Given the description of an element on the screen output the (x, y) to click on. 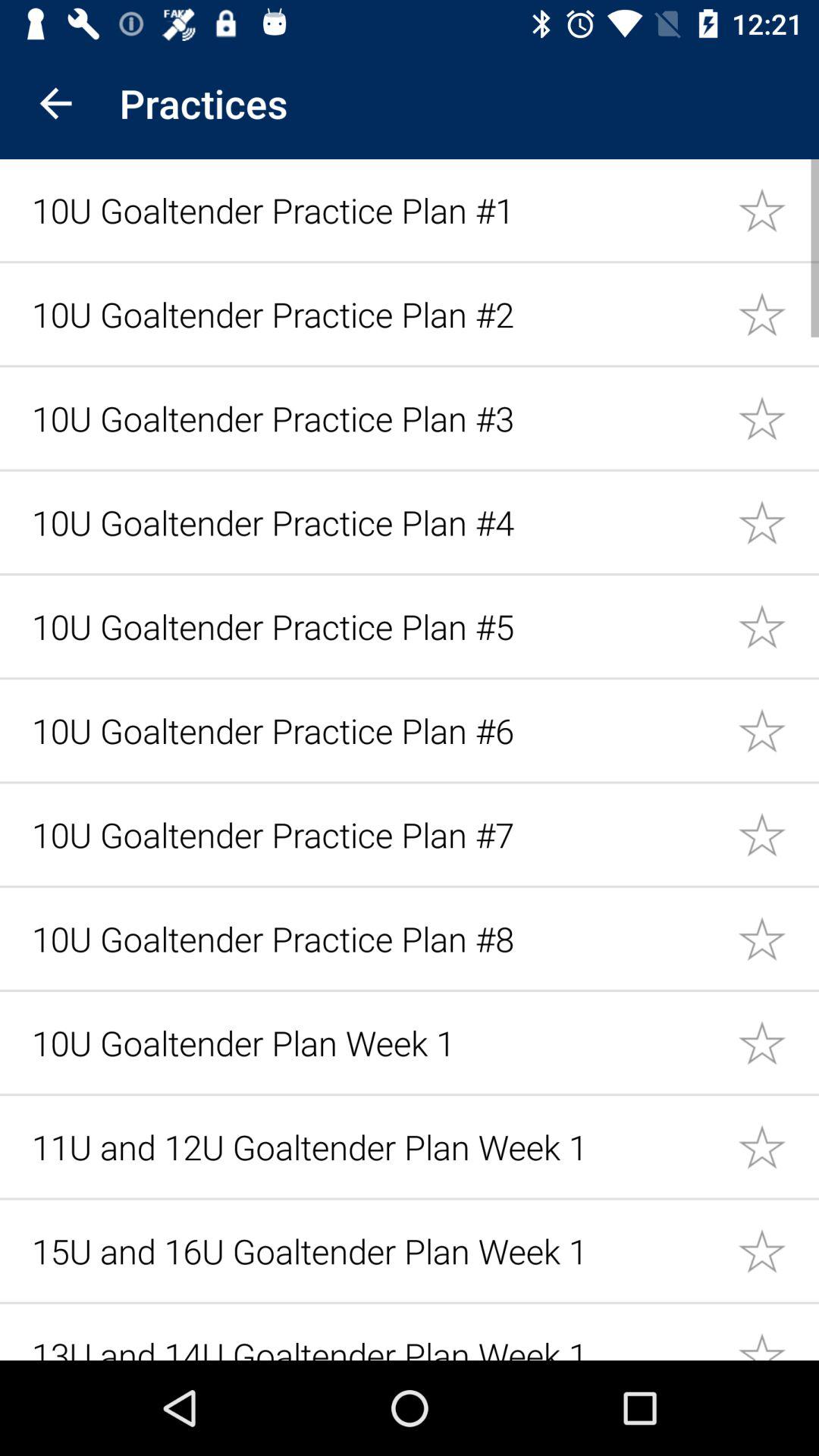
save (778, 1042)
